Given the description of an element on the screen output the (x, y) to click on. 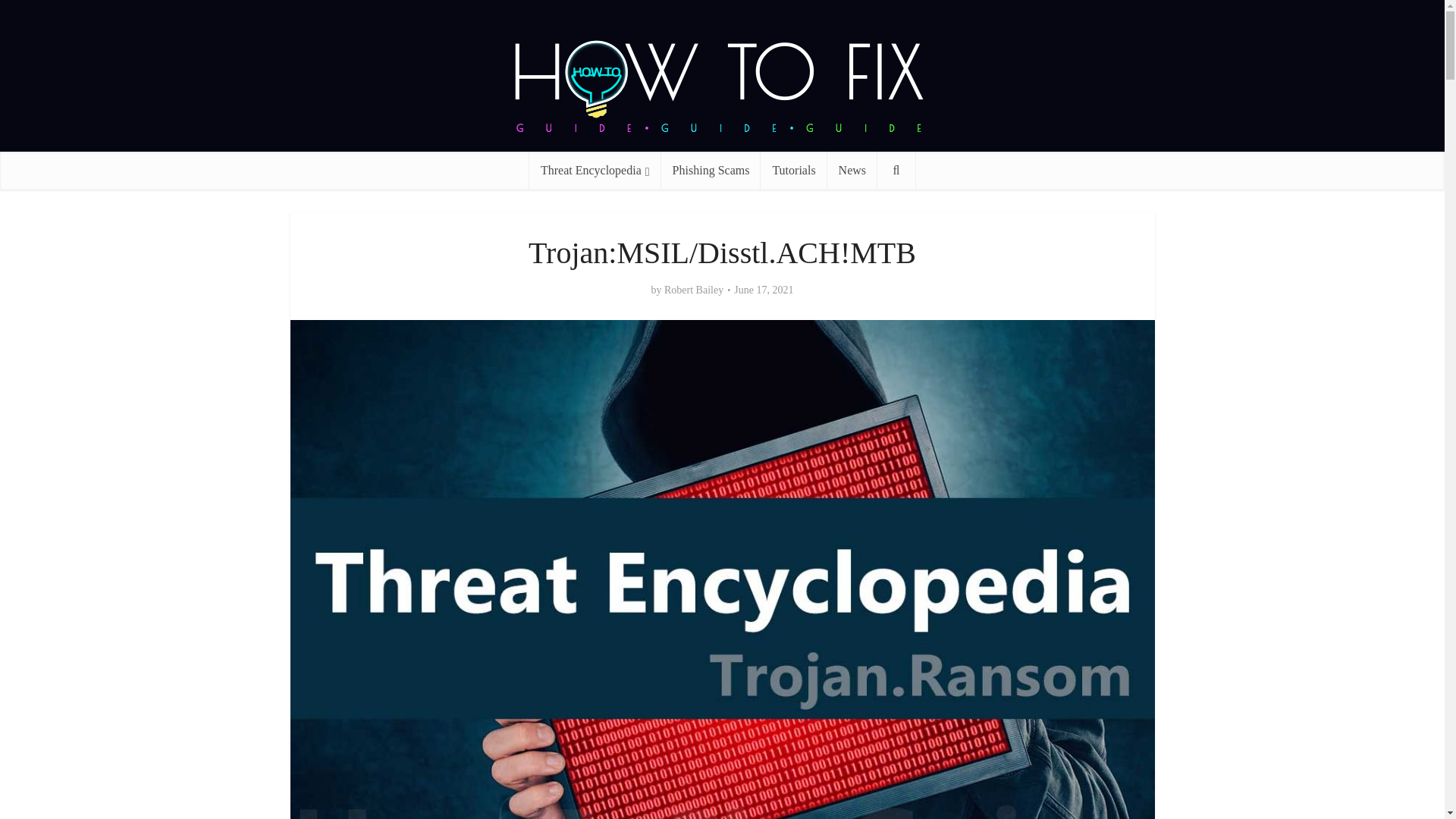
Tutorials (793, 170)
Phishing Scams (711, 170)
Threat Encyclopedia (595, 170)
News (852, 170)
Robert Bailey (693, 290)
